Given the description of an element on the screen output the (x, y) to click on. 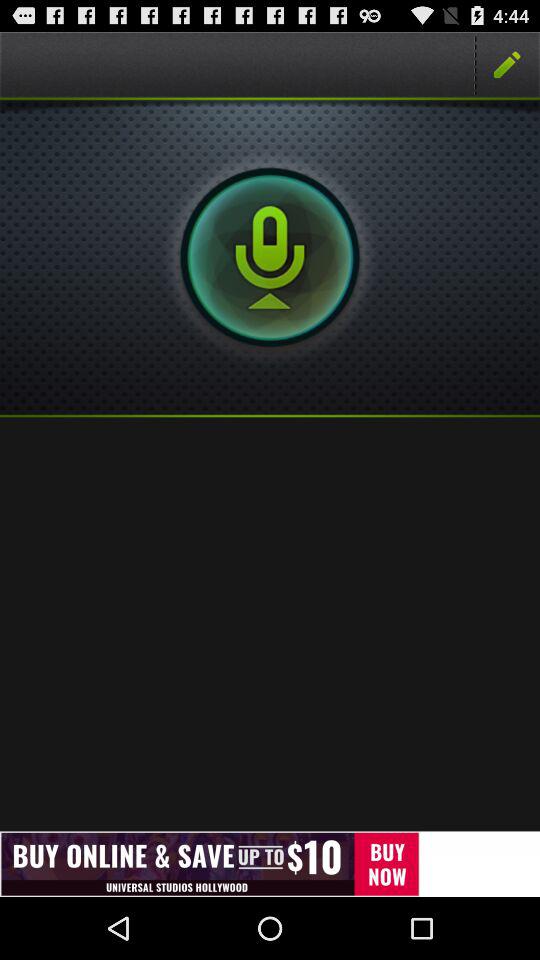
record (270, 257)
